Given the description of an element on the screen output the (x, y) to click on. 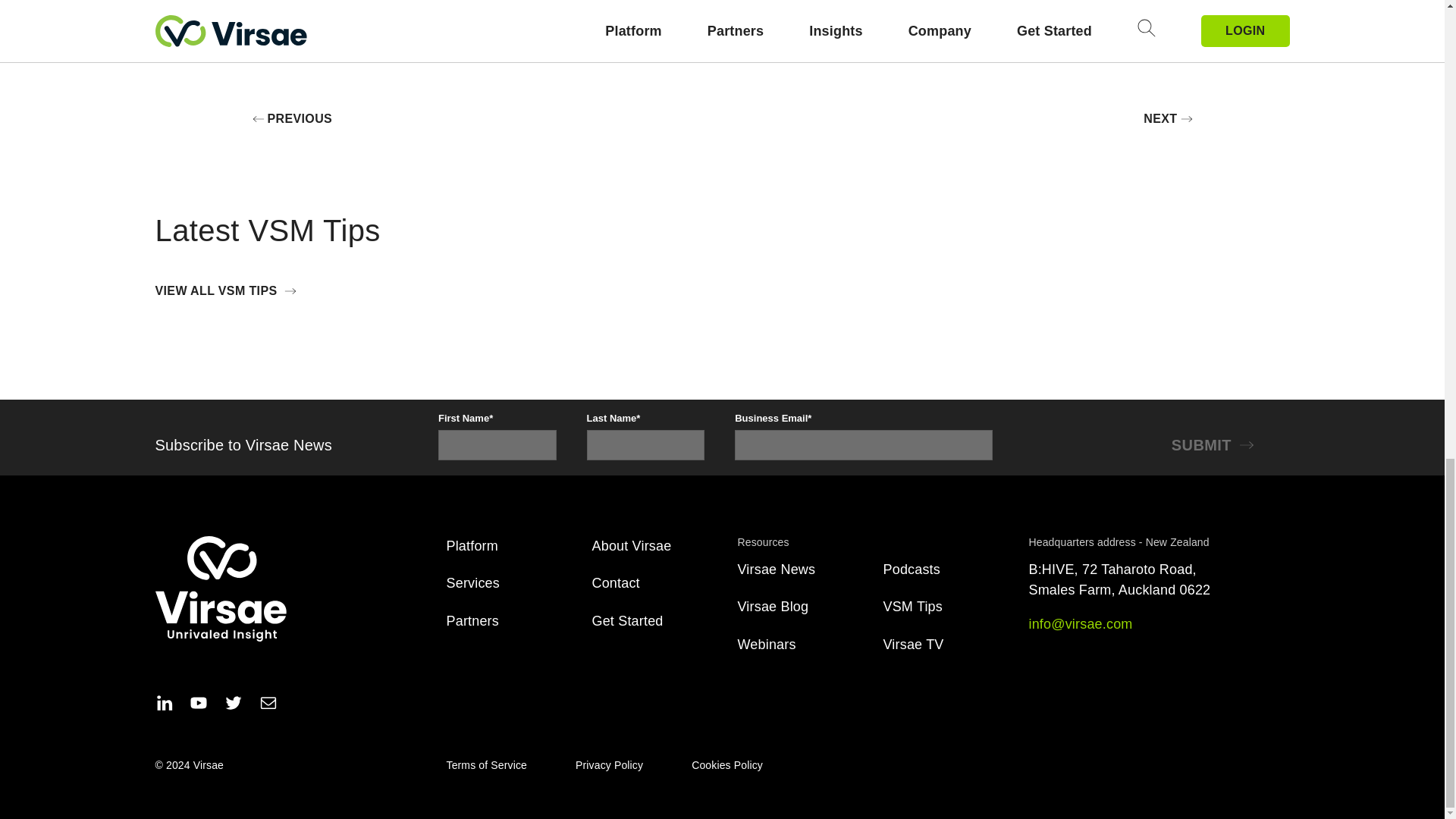
Virsae.Web.Models.PublishedContentModels.BlogLanding?.Name (775, 569)
NEXT (1167, 118)
SUBMIT (1217, 444)
Services (472, 582)
Privacy Policy (609, 765)
Virsae.Web.Models.PublishedContentModels.BlogLanding?.Name (910, 569)
PREVIOUS (291, 118)
About Virsae (631, 545)
Partners (471, 620)
Virsae.Web.Models.PublishedContentModels.BlogLanding?.Name (912, 644)
